Given the description of an element on the screen output the (x, y) to click on. 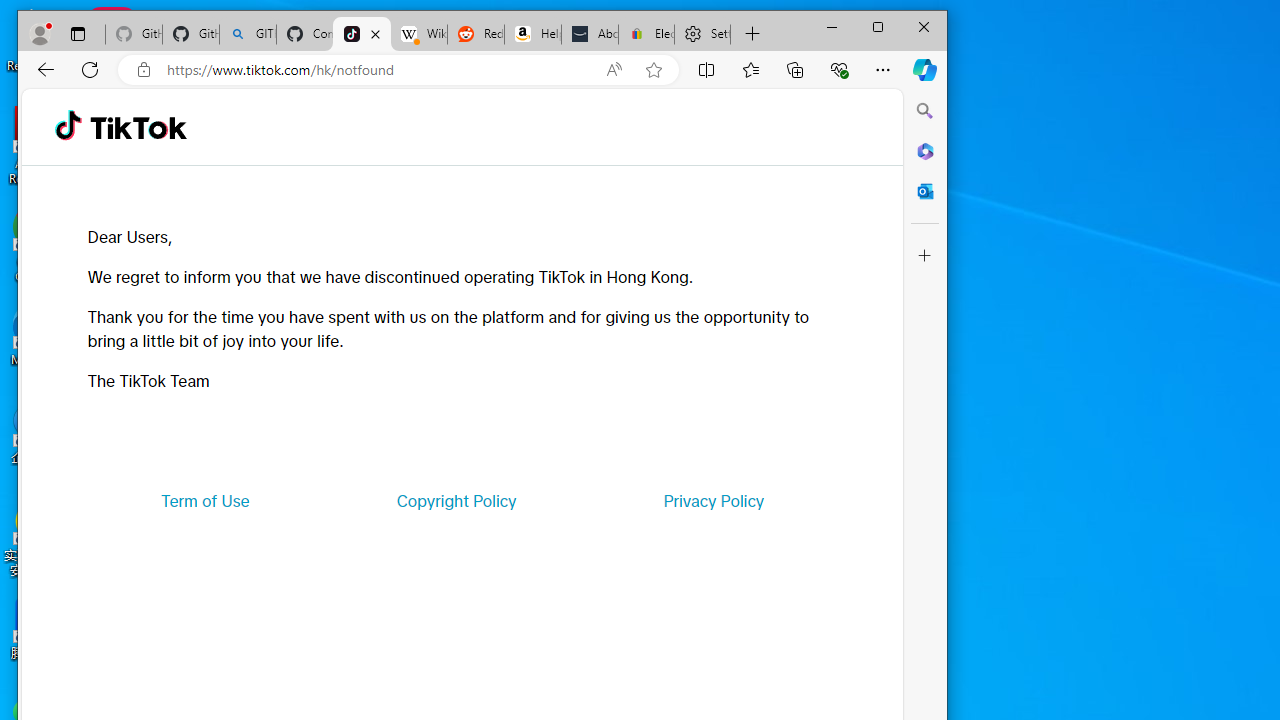
Maximize (878, 26)
